Given the description of an element on the screen output the (x, y) to click on. 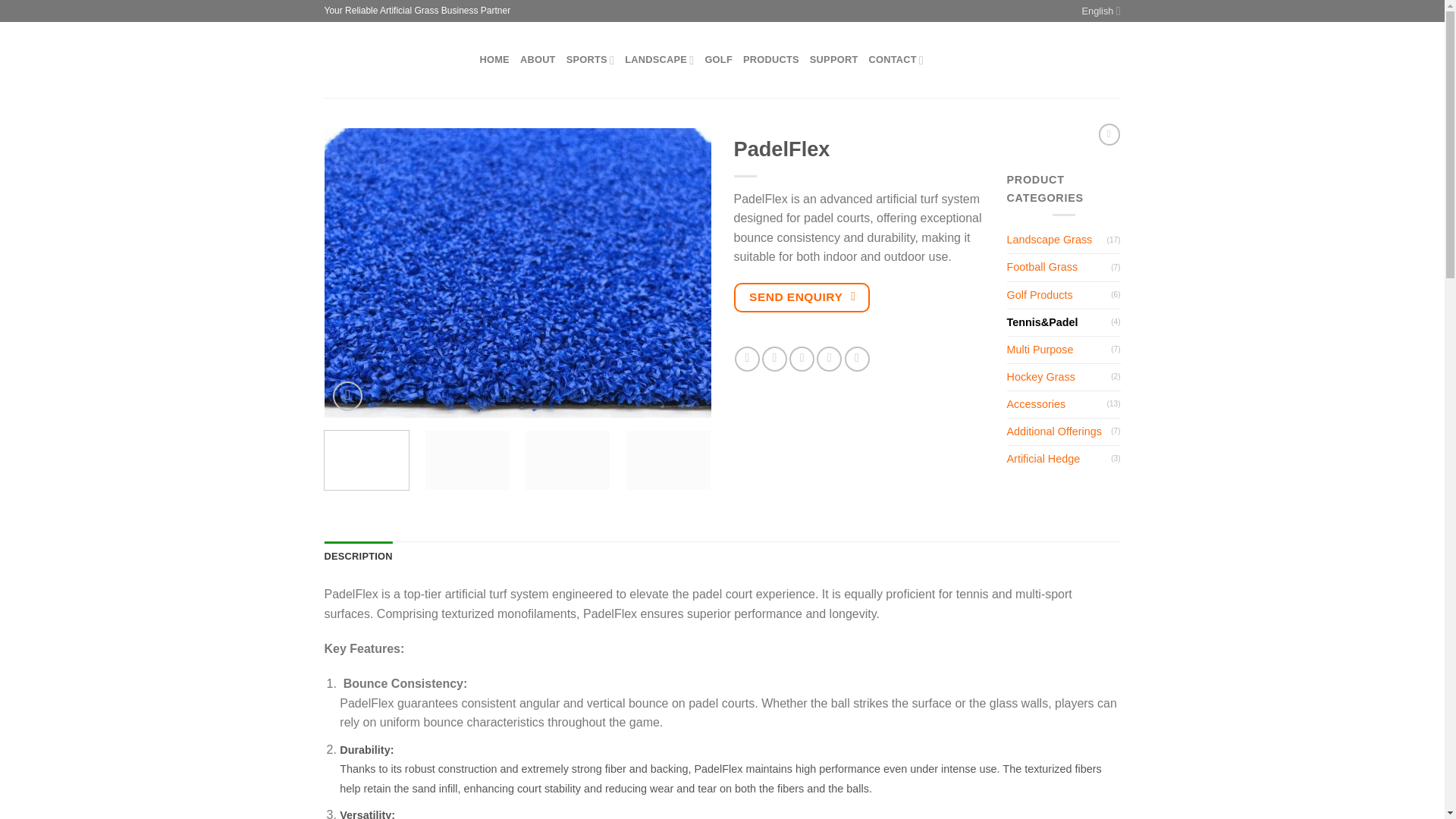
SPORTS (590, 60)
LANDSCAPE (659, 60)
ABOUT (537, 59)
Contact for free samples and quotations (895, 60)
GOLF (718, 59)
English (1070, 10)
English (1089, 11)
SUPPORT (834, 59)
Support information for artificial grass (834, 59)
Artificial grass for sports (590, 60)
